Given the description of an element on the screen output the (x, y) to click on. 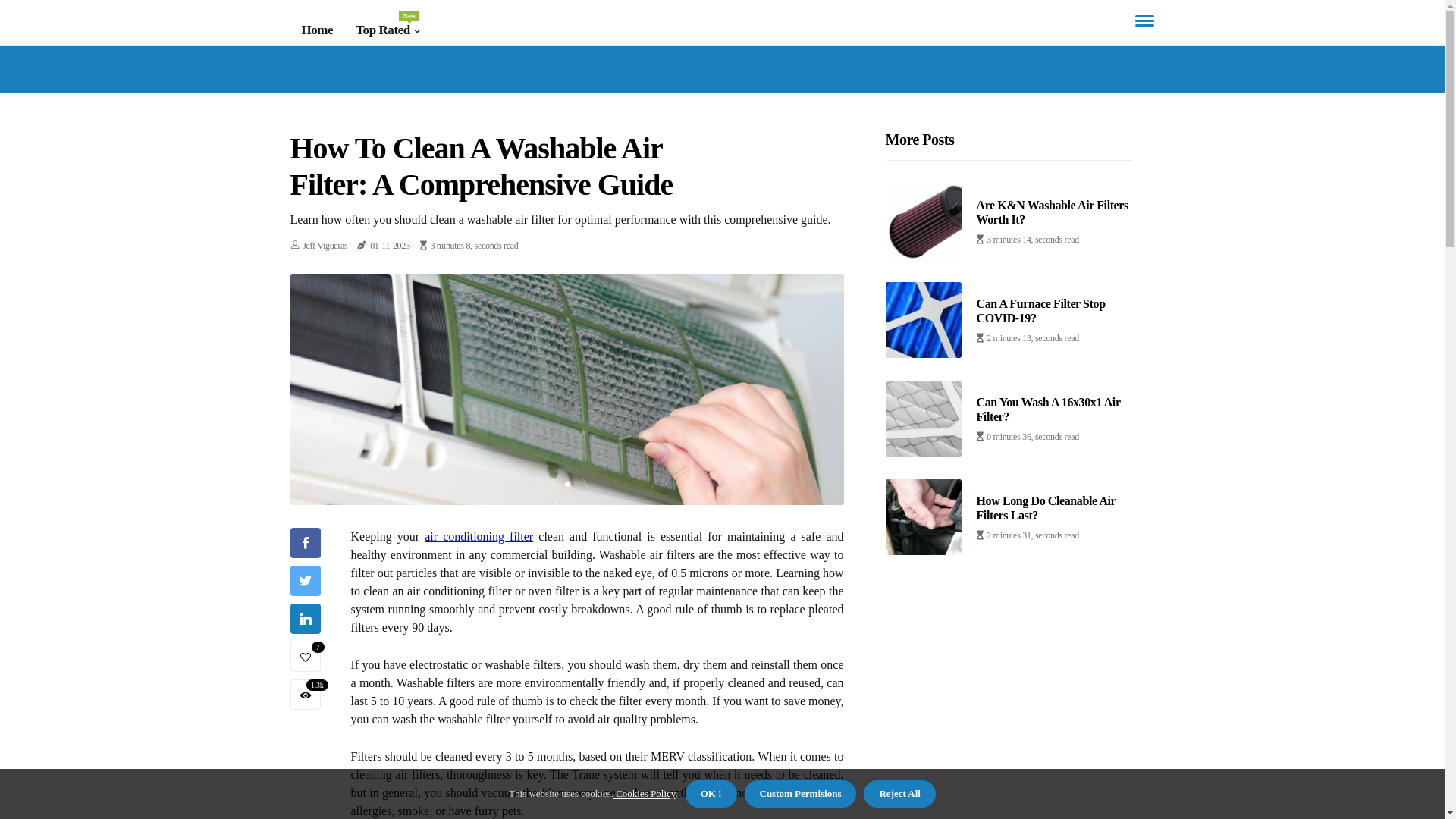
How Long Do Cleanable Air Filters Last? Element type: text (1046, 507)
Are K&N Washable Air Filters Worth It? Element type: text (1052, 211)
air conditioning filter Element type: text (478, 536)
Can A Furnace Filter Stop COVID-19? Element type: text (1040, 310)
1 Element type: text (566, 483)
Cookies Policy Element type: text (644, 793)
Top Rated
New Element type: text (387, 30)
Jeff Vigueras Element type: text (324, 245)
Home Element type: text (317, 30)
7 Element type: text (304, 656)
Can You Wash A 16x30x1 Air Filter? Element type: text (1048, 409)
